Given the description of an element on the screen output the (x, y) to click on. 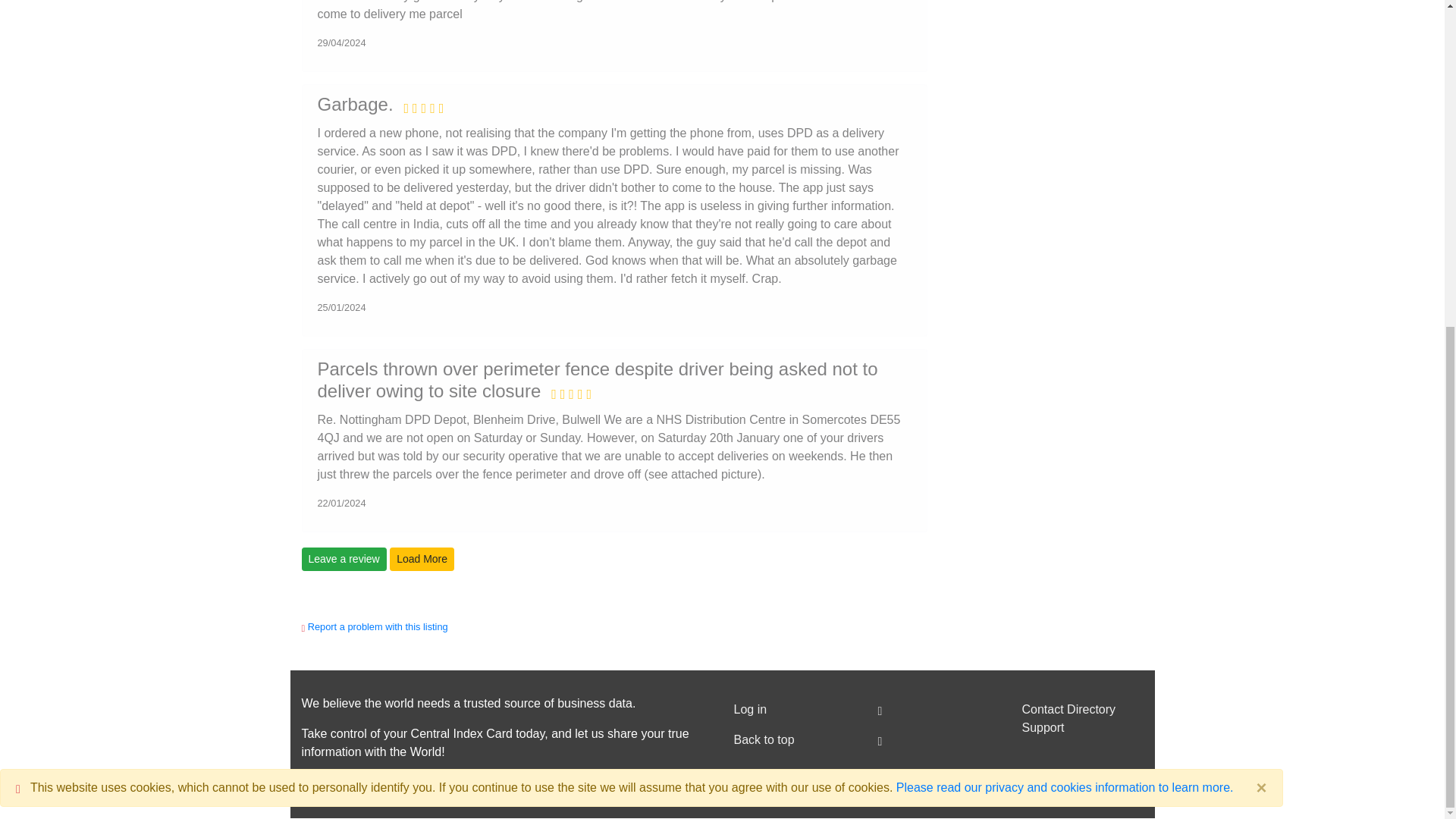
Contact Directory Support (1082, 718)
Leave a review (344, 558)
Log in (794, 709)
Report a problem with this listing (377, 626)
Back to top (794, 739)
Load More (422, 558)
